Given the description of an element on the screen output the (x, y) to click on. 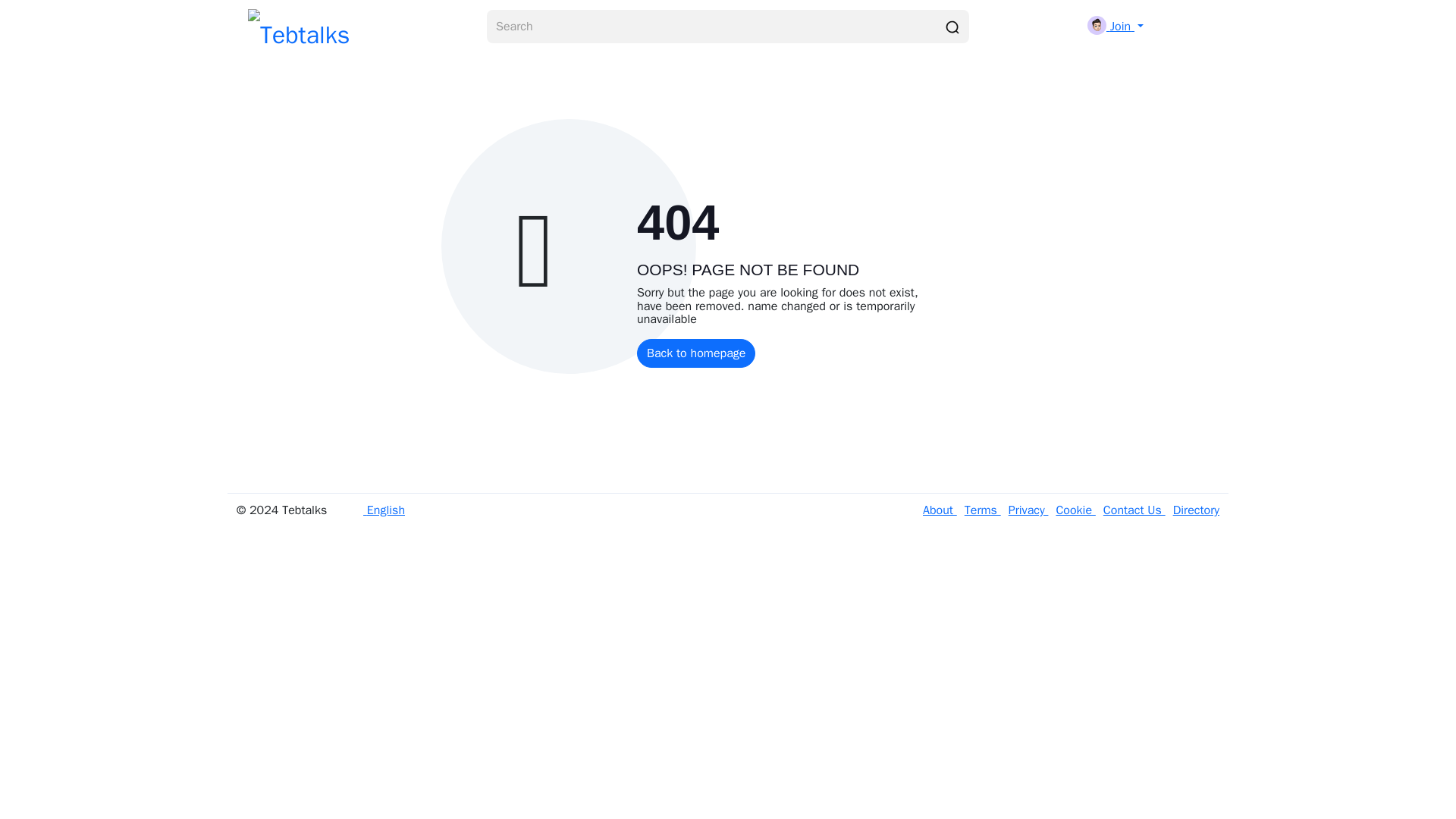
Terms (978, 509)
Directory (1193, 509)
About (939, 509)
Tebtalks  (298, 27)
Contact Us (1131, 509)
Back to homepage (696, 353)
Cookie (1071, 509)
English (373, 510)
Privacy (1024, 509)
Join (1115, 26)
